Given the description of an element on the screen output the (x, y) to click on. 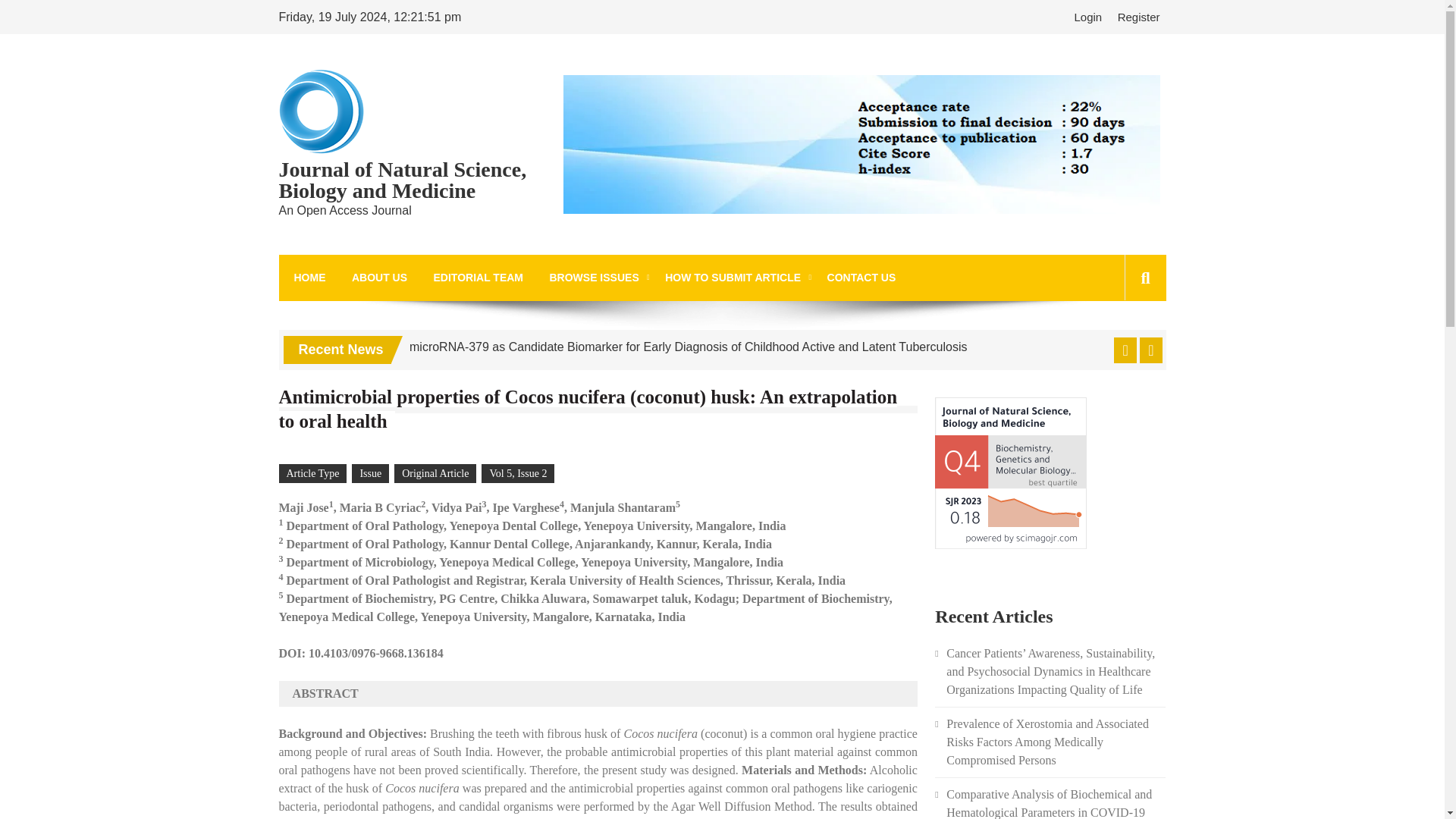
Search (1120, 346)
Journal of Natural Science, Biology and Medicine (411, 179)
CONTACT US (861, 277)
ABOUT US (379, 277)
Login (1091, 17)
Register (1139, 17)
HOW TO SUBMIT ARTICLE (732, 277)
BROWSE ISSUES (593, 277)
EDITORIAL TEAM (478, 277)
